Given the description of an element on the screen output the (x, y) to click on. 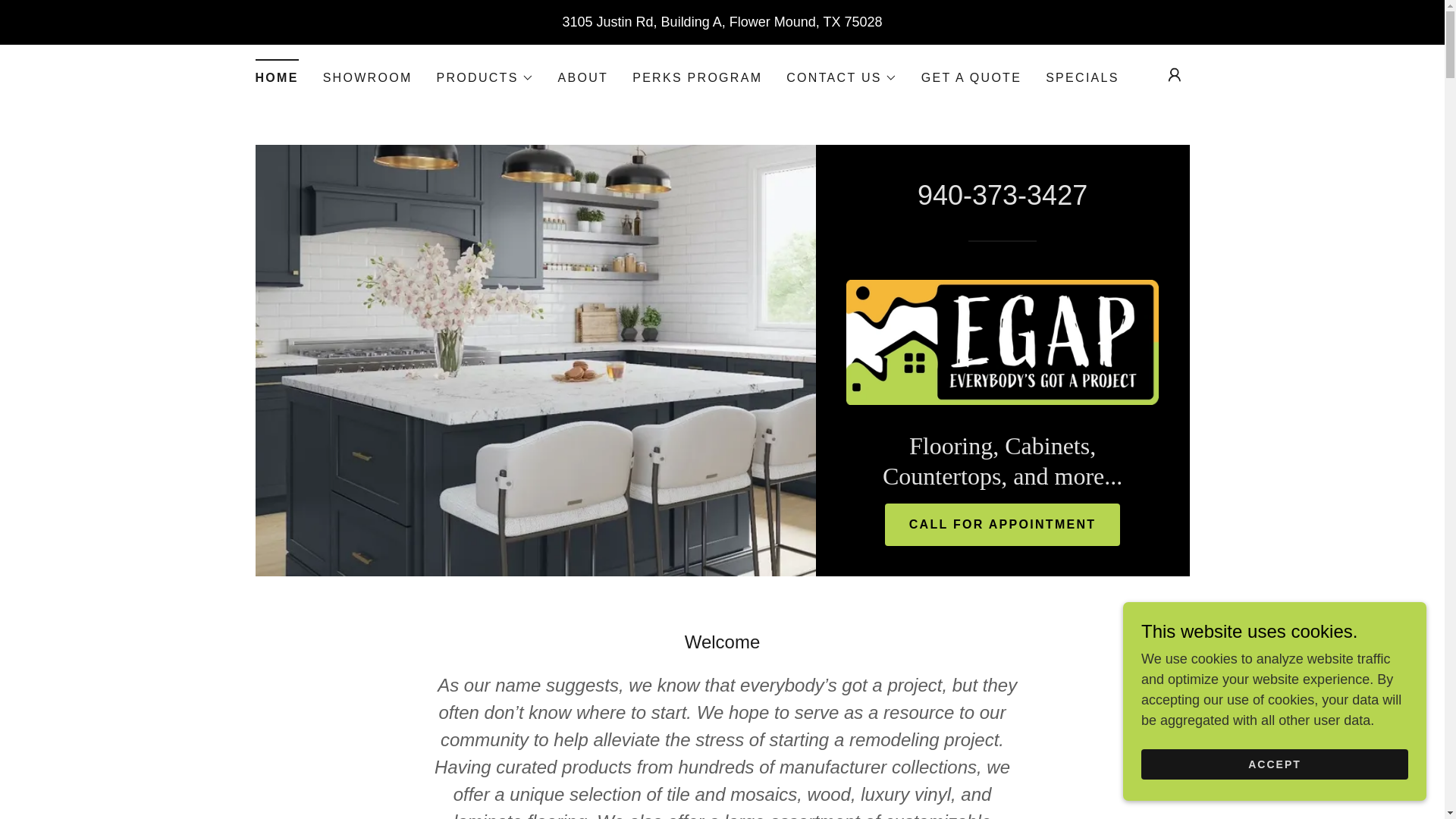
PERKS PROGRAM (697, 77)
GET A QUOTE (971, 77)
SHOWROOM (367, 77)
HOME (276, 72)
CONTACT US (841, 77)
ABOUT (582, 77)
Everybody's Got A Project (1001, 340)
SPECIALS (1082, 77)
PRODUCTS (485, 77)
